Given the description of an element on the screen output the (x, y) to click on. 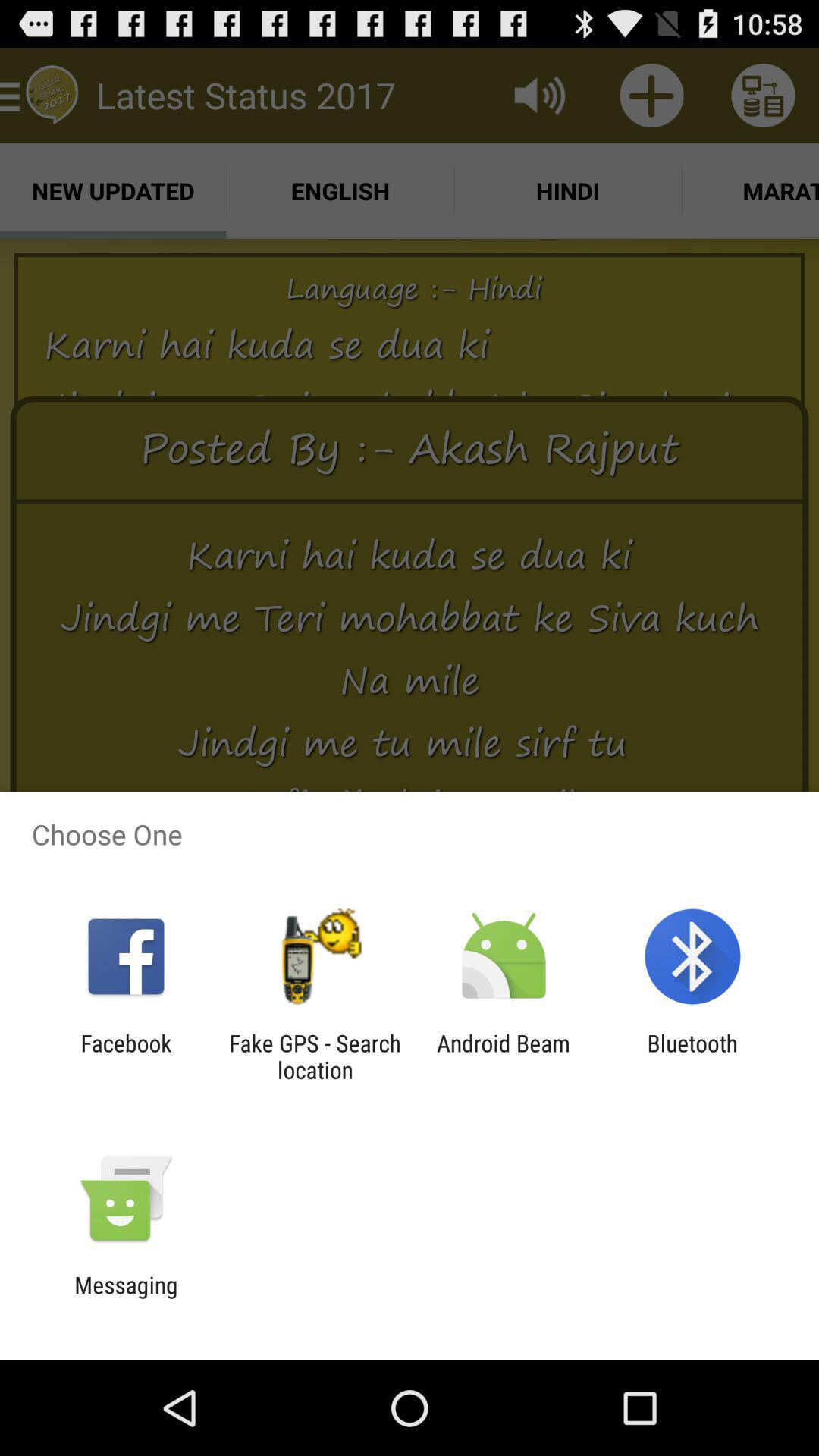
launch the app next to fake gps search icon (503, 1056)
